Given the description of an element on the screen output the (x, y) to click on. 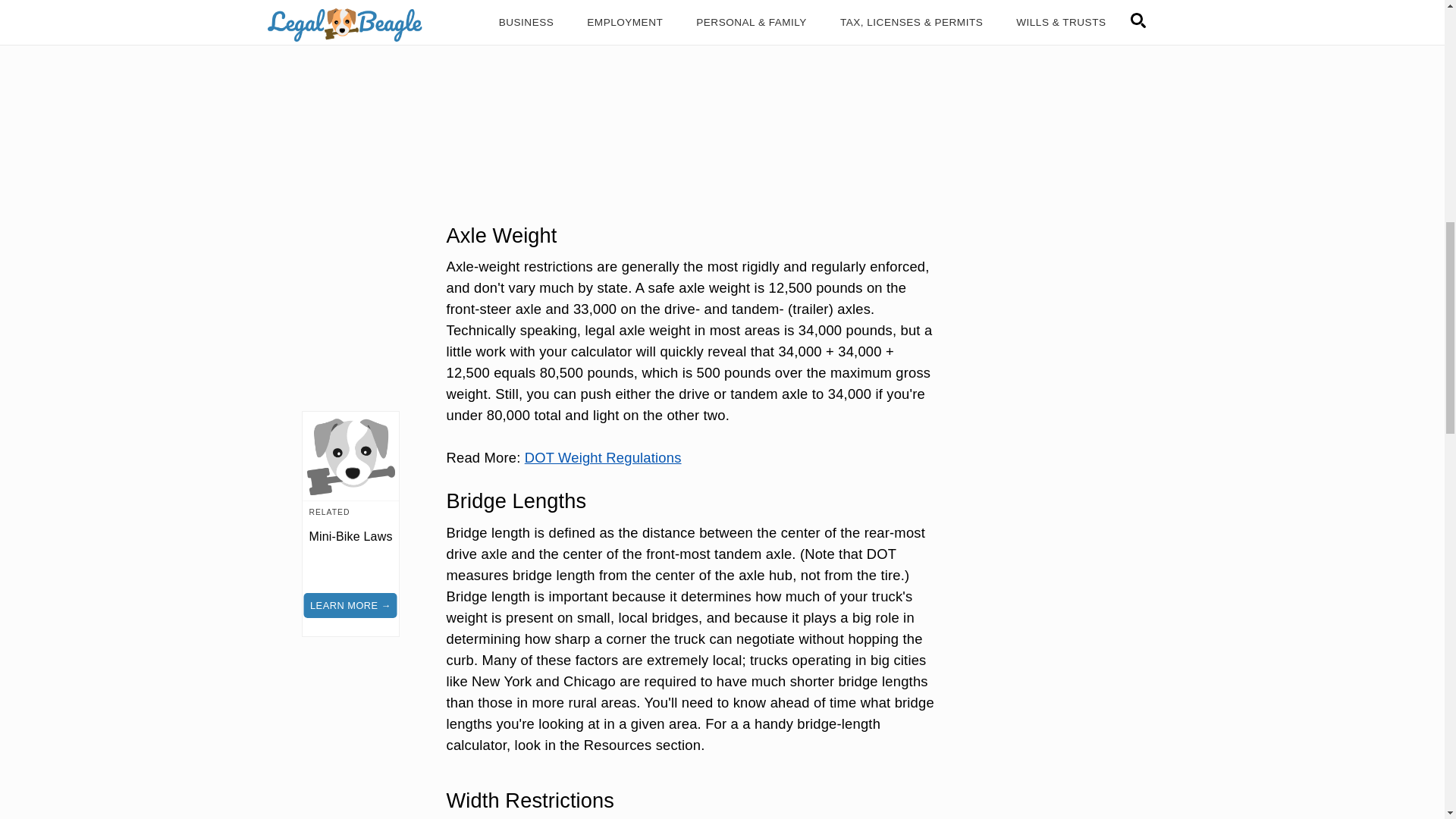
Advertisement (691, 95)
